Given the description of an element on the screen output the (x, y) to click on. 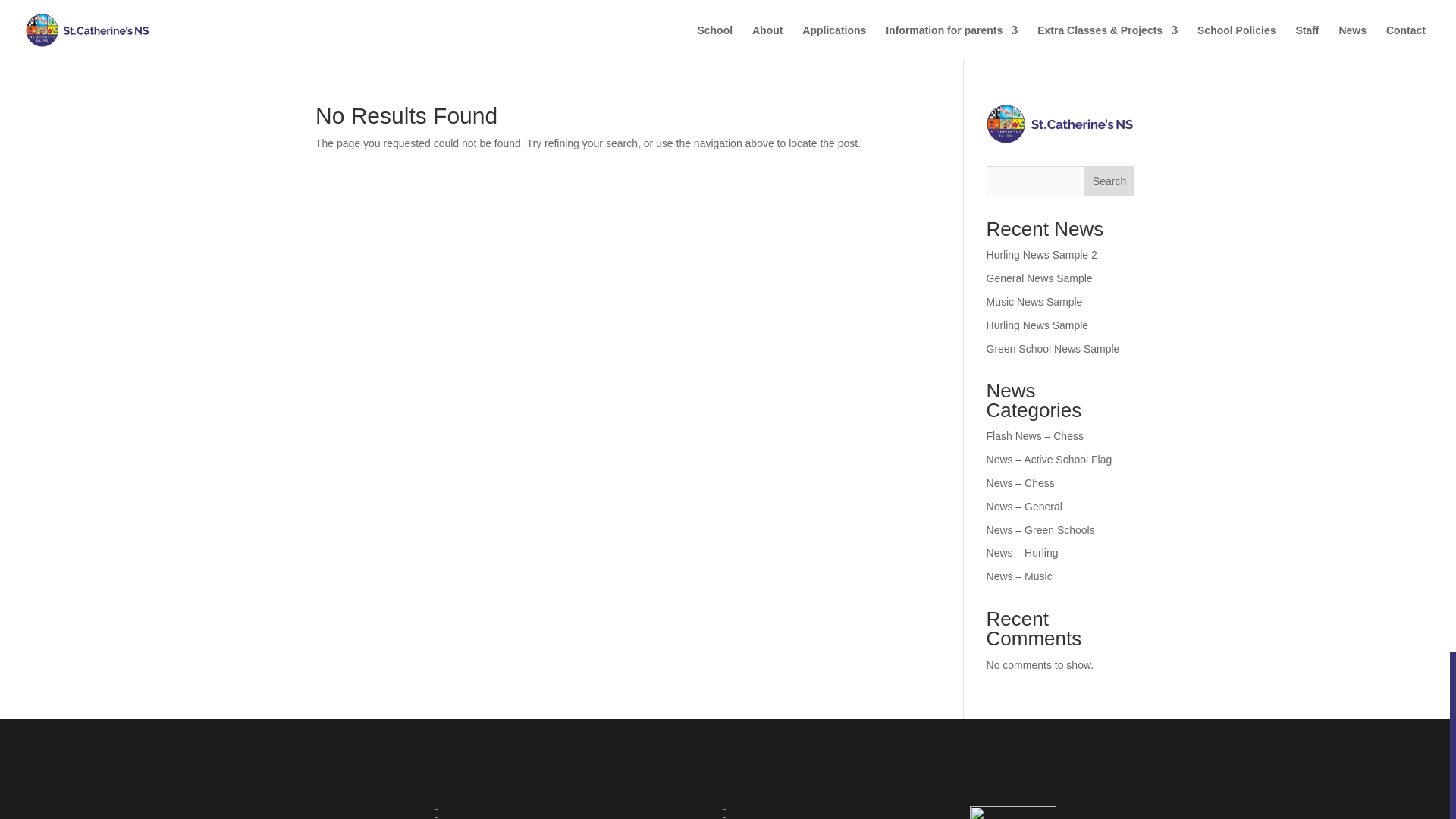
Contact (1405, 42)
Applications (834, 42)
StCathNS-Logo-114 (1013, 812)
Search (1109, 181)
Hurling News Sample (1038, 325)
Information for parents (951, 42)
Hurling News Sample 2 (1042, 254)
School (714, 42)
School Policies (1235, 42)
General News Sample (1040, 277)
